Given the description of an element on the screen output the (x, y) to click on. 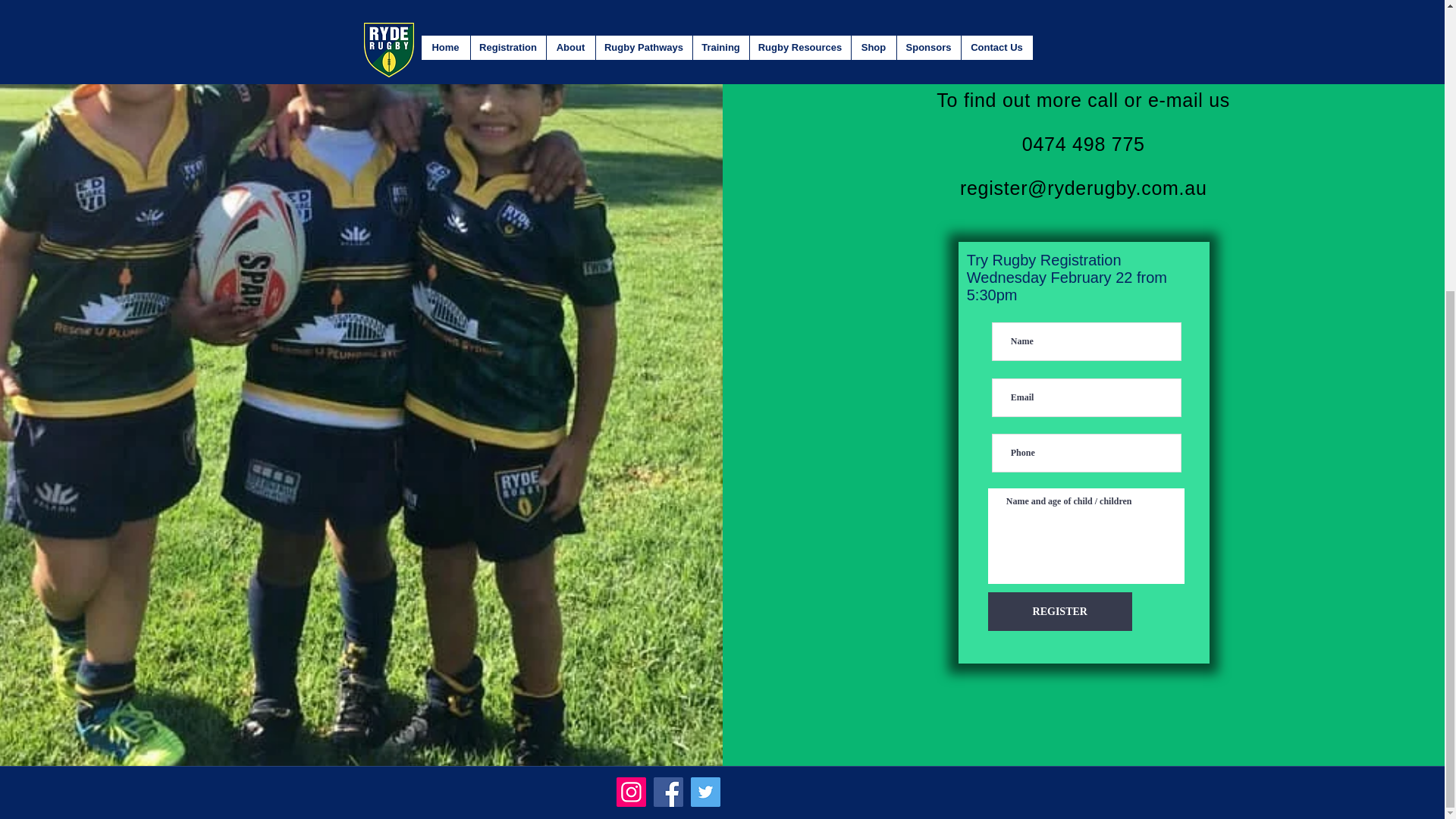
REGISTER (1060, 611)
